Given the description of an element on the screen output the (x, y) to click on. 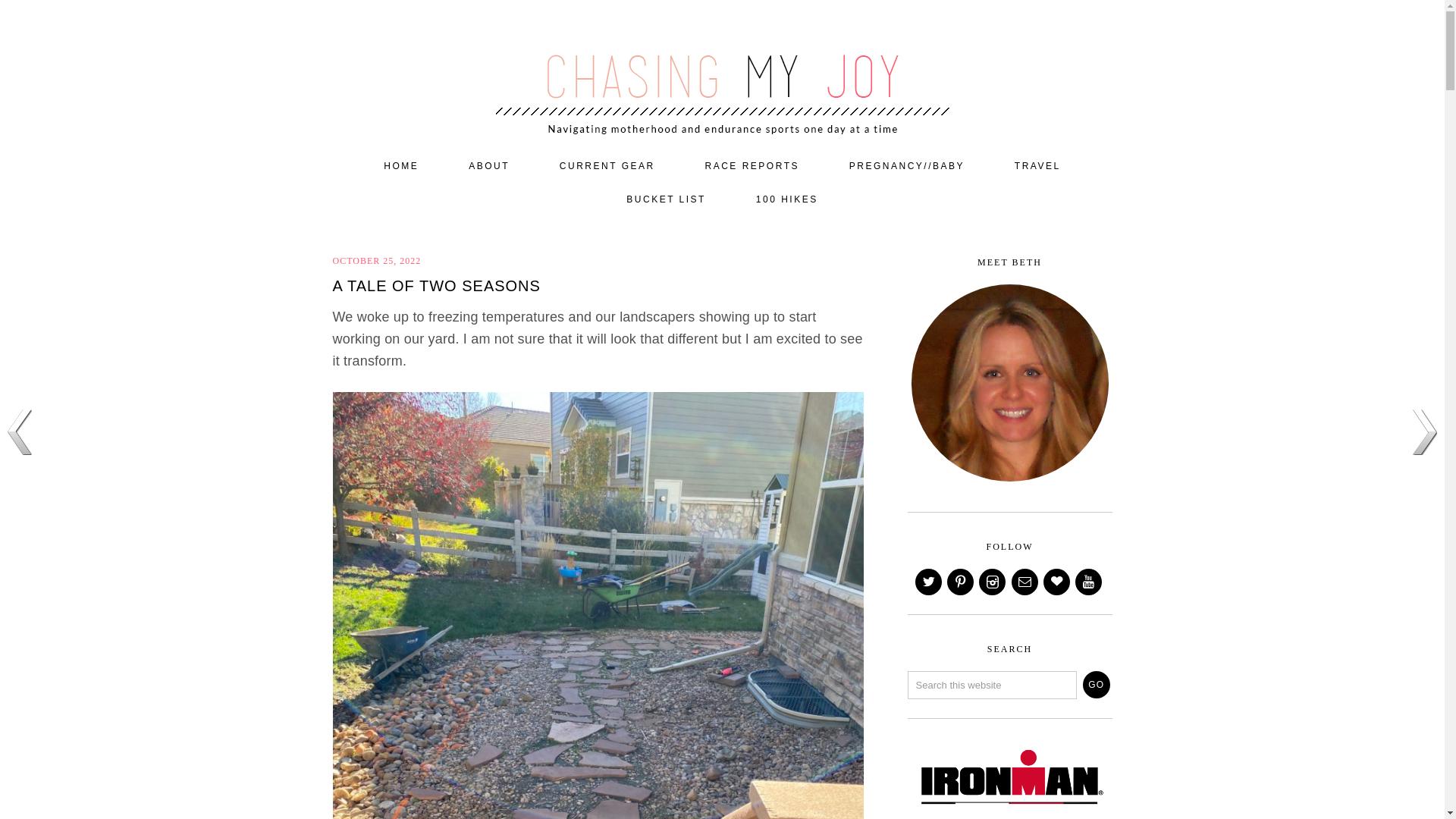
CHASING MY JOY (721, 70)
GO (1096, 684)
CURRENT GEAR (607, 166)
Bloglovin (1057, 582)
ABOUT (488, 166)
Email Me (1026, 582)
GO (1096, 684)
100 HIKES (787, 200)
Pinterest (961, 582)
RACE REPORTS (752, 166)
